Given the description of an element on the screen output the (x, y) to click on. 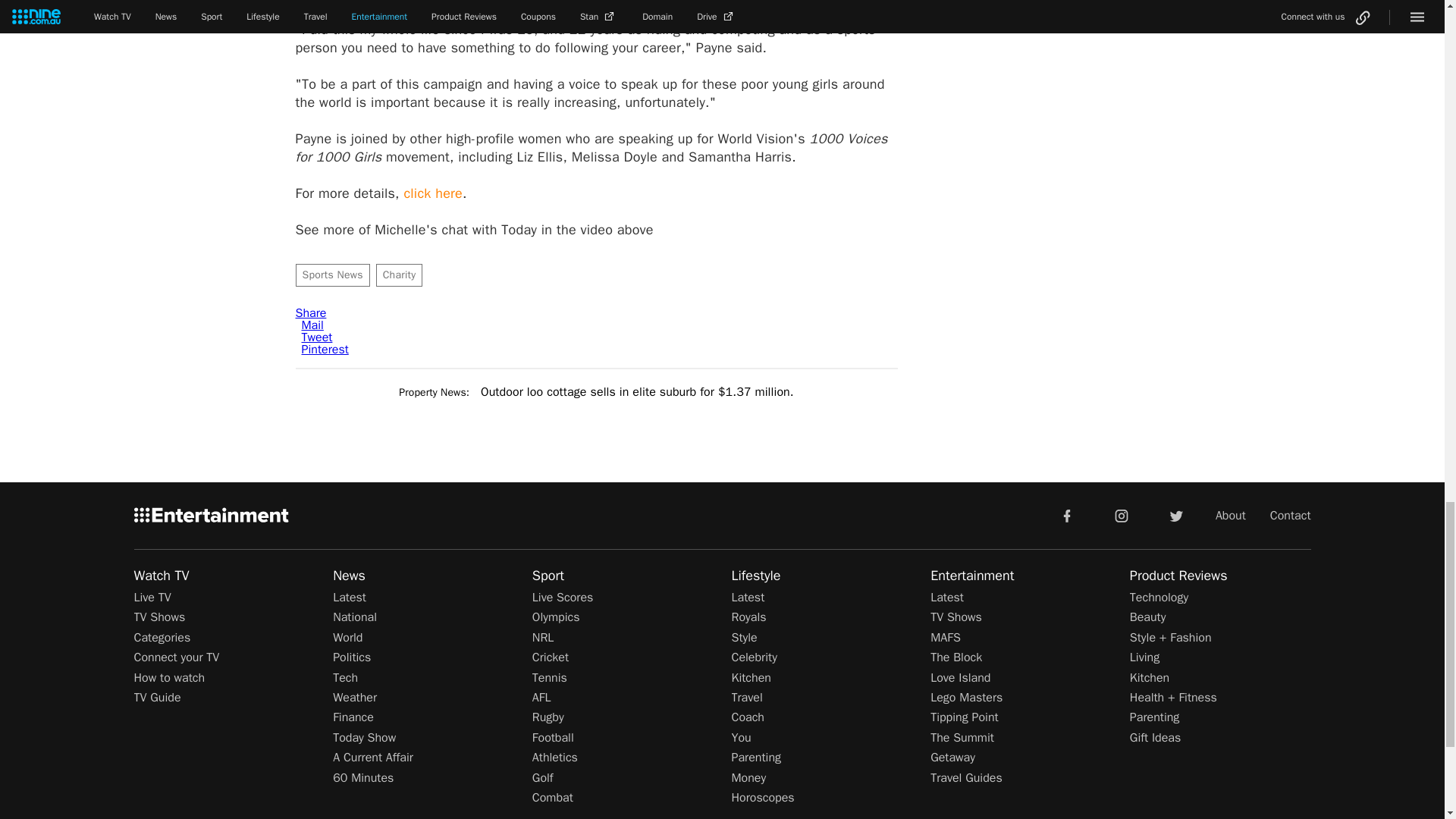
click here (433, 193)
instagram (1121, 514)
Pinterest (325, 349)
Mail (312, 324)
facebook (1066, 514)
Charity (399, 274)
Share (310, 313)
twitter (1175, 514)
click here (433, 193)
